Given the description of an element on the screen output the (x, y) to click on. 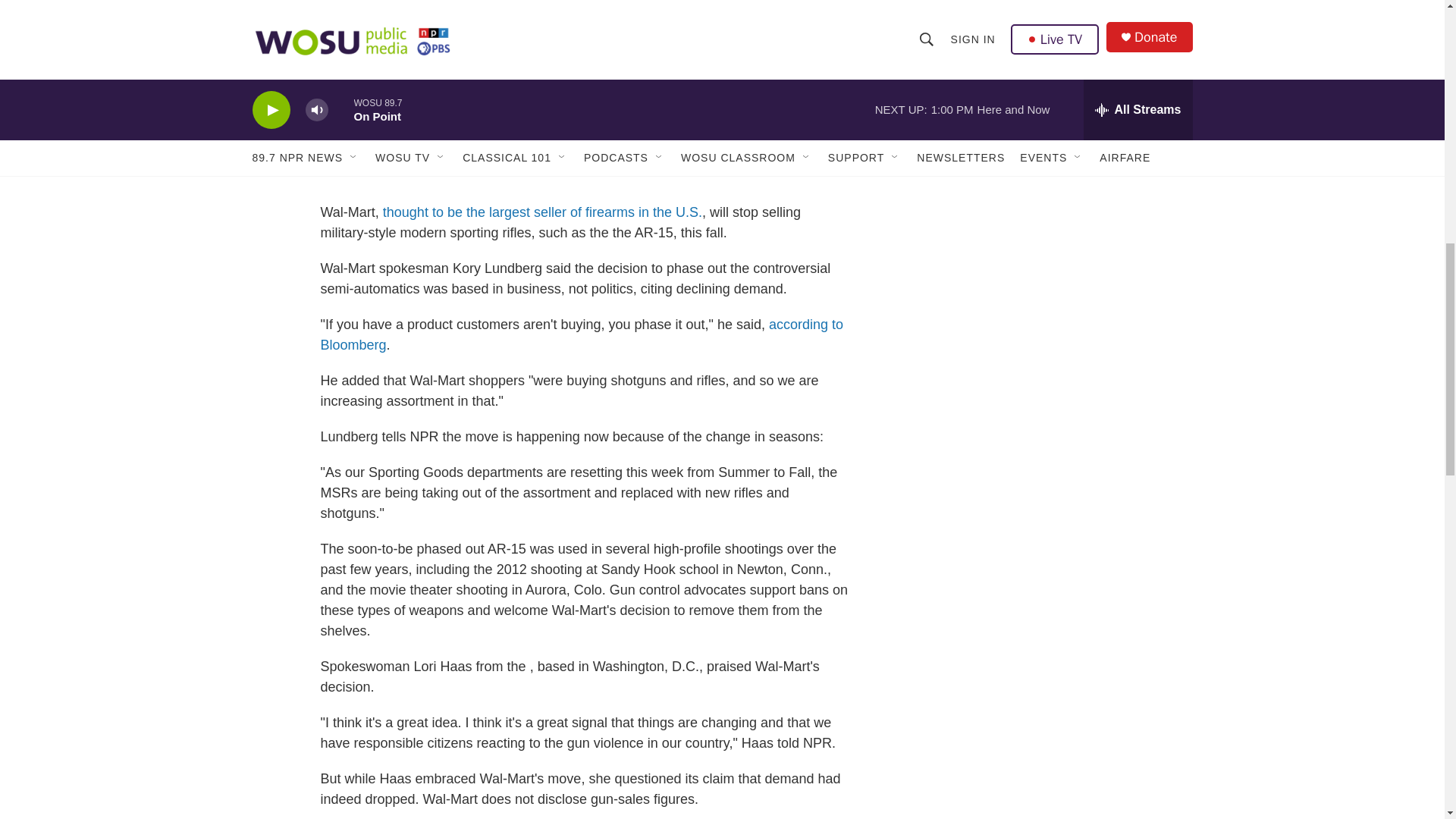
3rd party ad content (1062, 58)
